Given the description of an element on the screen output the (x, y) to click on. 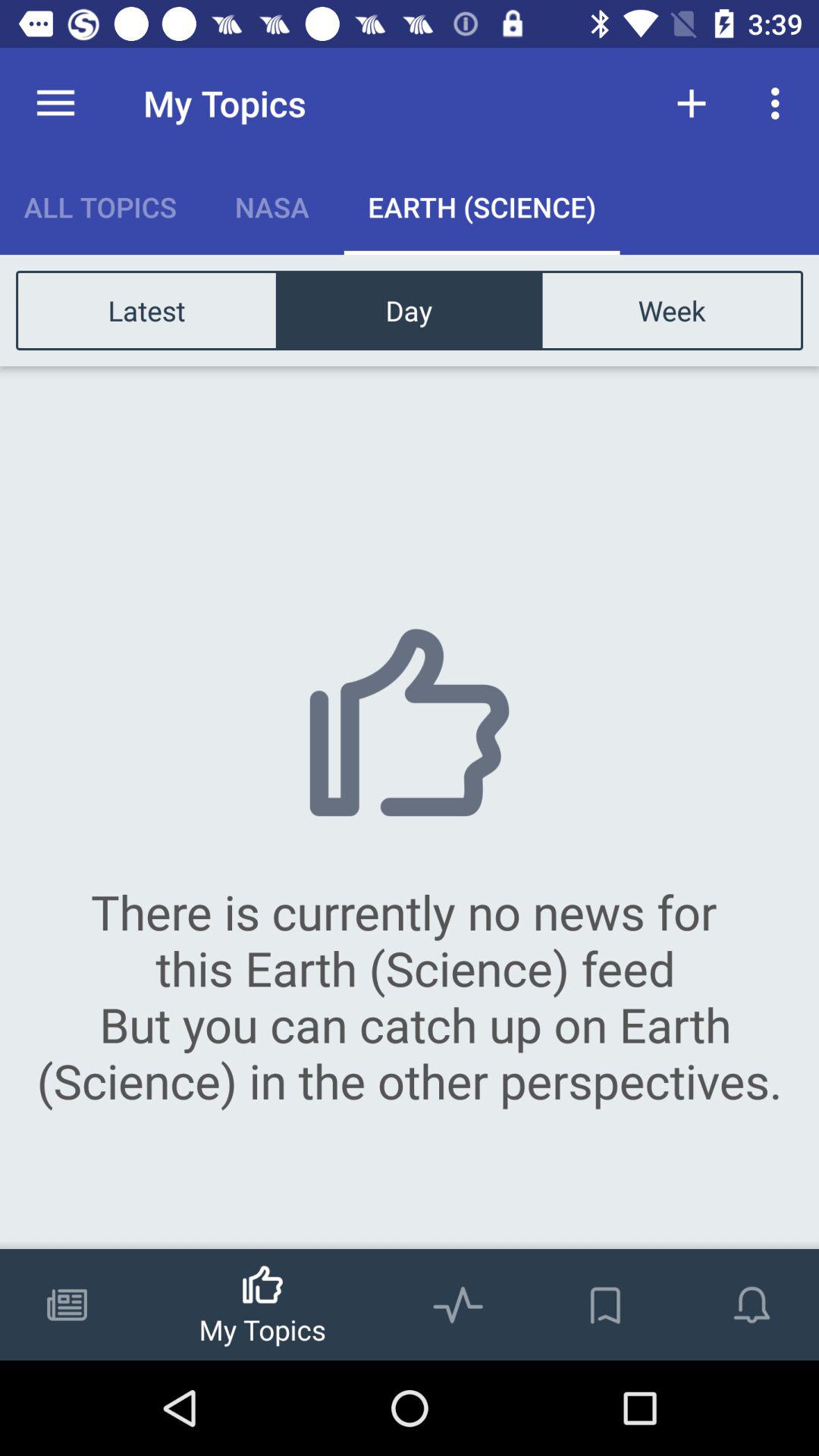
press latest (146, 310)
